Given the description of an element on the screen output the (x, y) to click on. 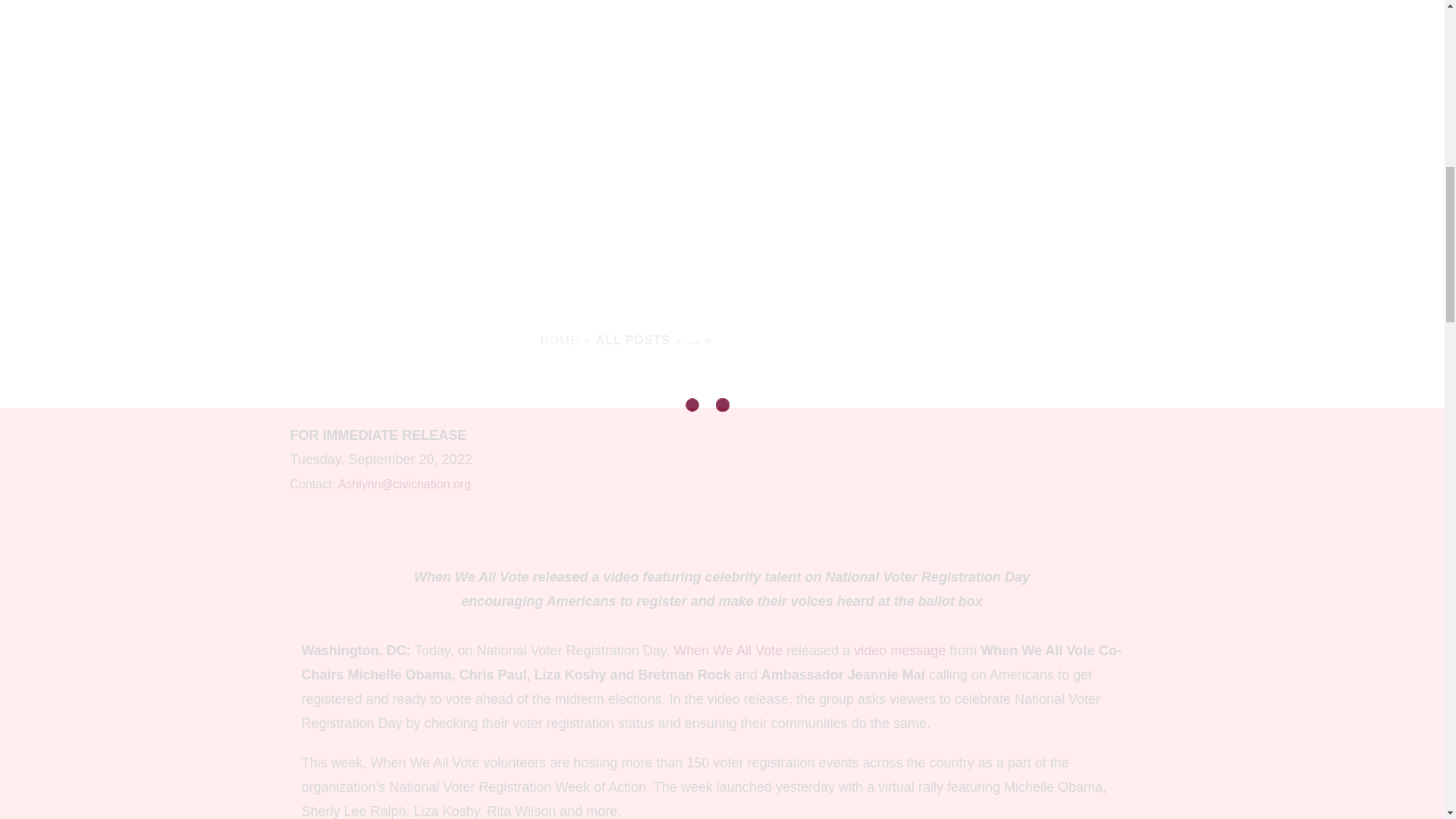
HOME (559, 339)
video message (898, 650)
When We All Vote (727, 650)
ALL POSTS (632, 339)
